Given the description of an element on the screen output the (x, y) to click on. 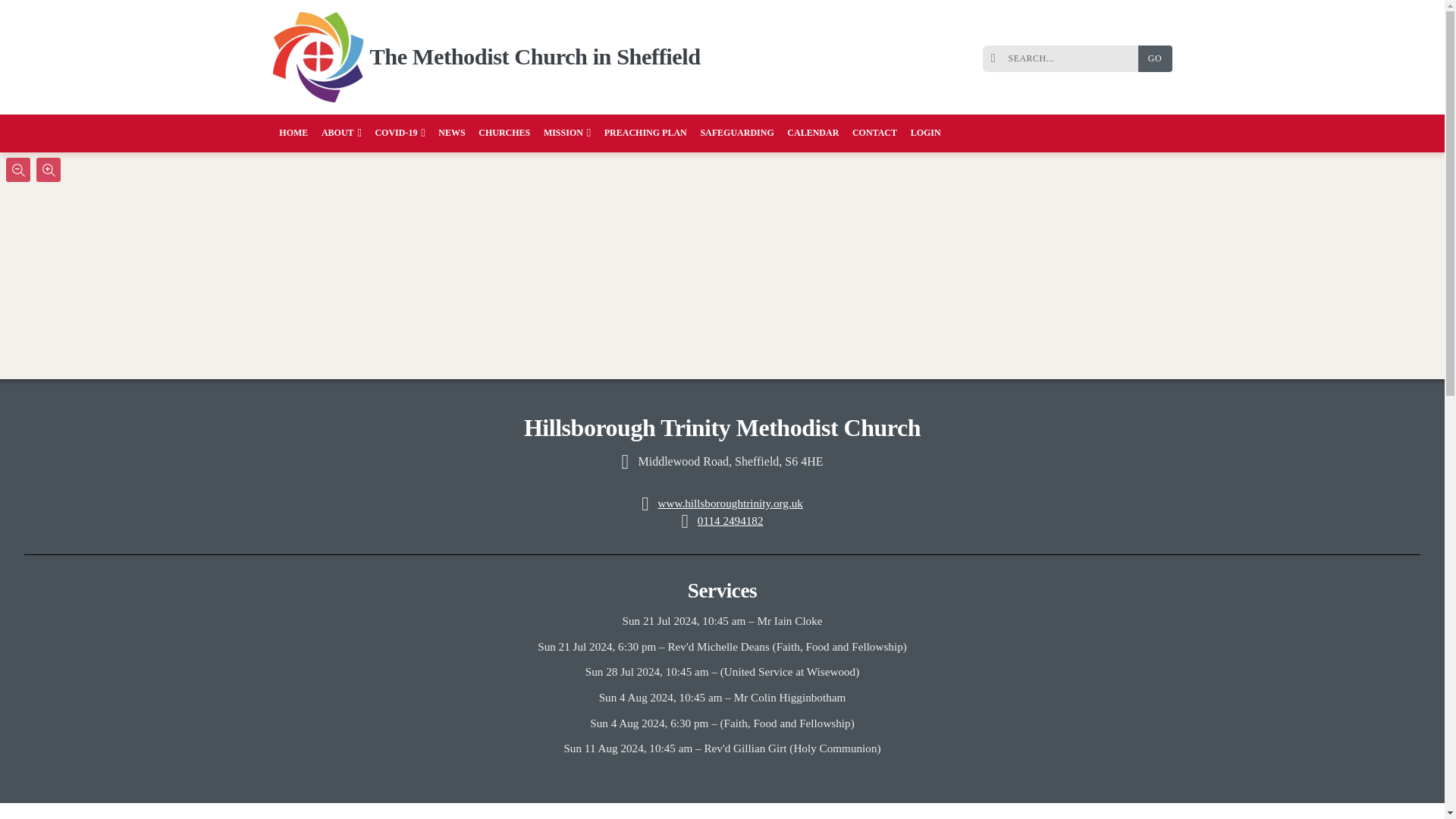
COVID-19 (400, 133)
HOME (294, 133)
LOGIN (925, 133)
CHURCHES (504, 133)
SAFEGUARDING (737, 133)
Zoom out (17, 169)
CALENDAR (812, 133)
SEARCH... (1064, 58)
NEWS (451, 133)
Sheffield Circuit Home (318, 57)
CONTACT (874, 133)
Zoom in (48, 169)
Visit the church website (730, 502)
ABOUT (341, 133)
PREACHING PLAN (645, 133)
